Given the description of an element on the screen output the (x, y) to click on. 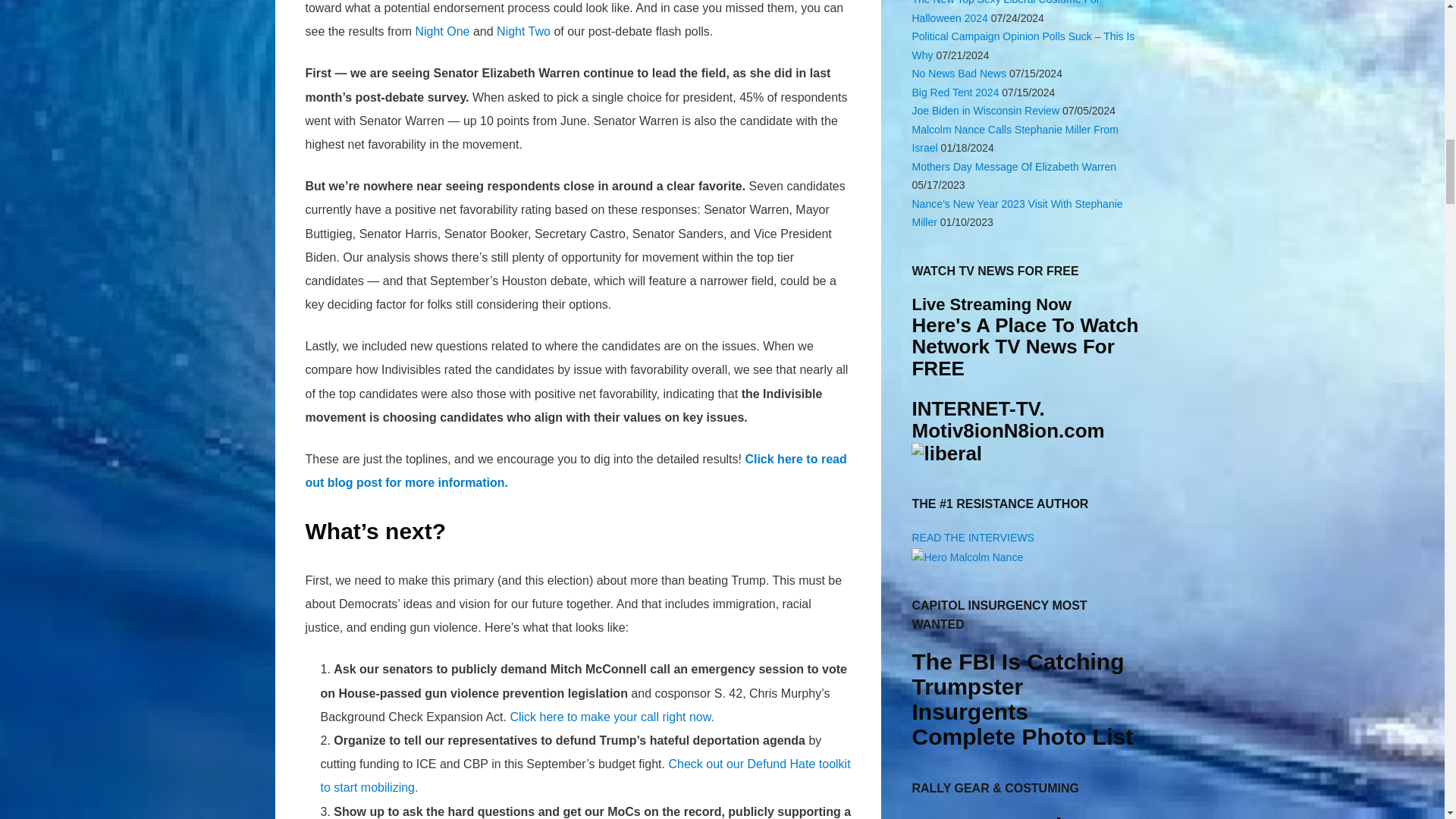
Click here to make your call right now. (611, 716)
Check out our Defund Hate toolkit to start mobilizing. (585, 775)
Night Two (523, 31)
Night One (441, 31)
Click here to read out blog post for more information. (574, 470)
